Given the description of an element on the screen output the (x, y) to click on. 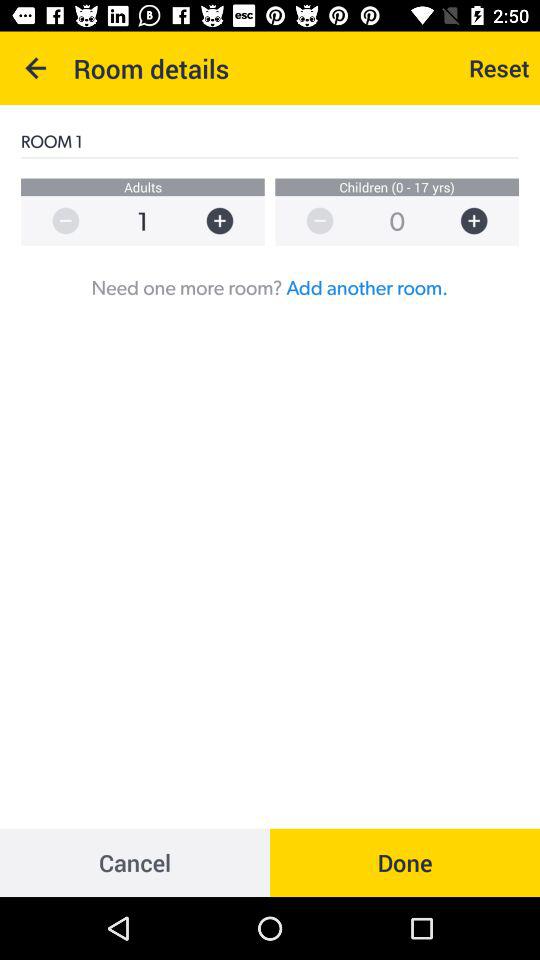
button to decrement number of adults (55, 220)
